Given the description of an element on the screen output the (x, y) to click on. 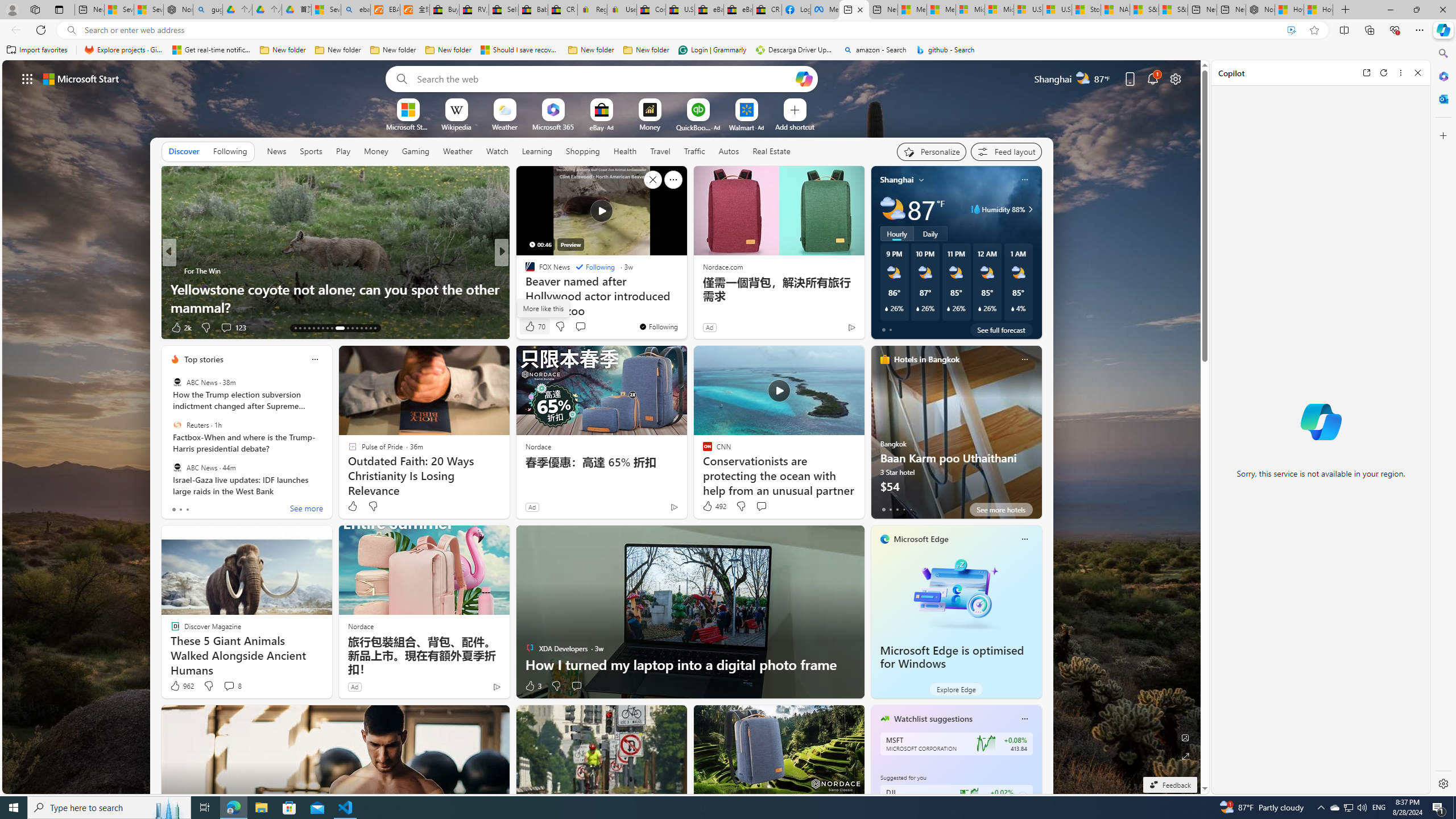
Class: icon-img (1024, 718)
Play (342, 151)
